Given the description of an element on the screen output the (x, y) to click on. 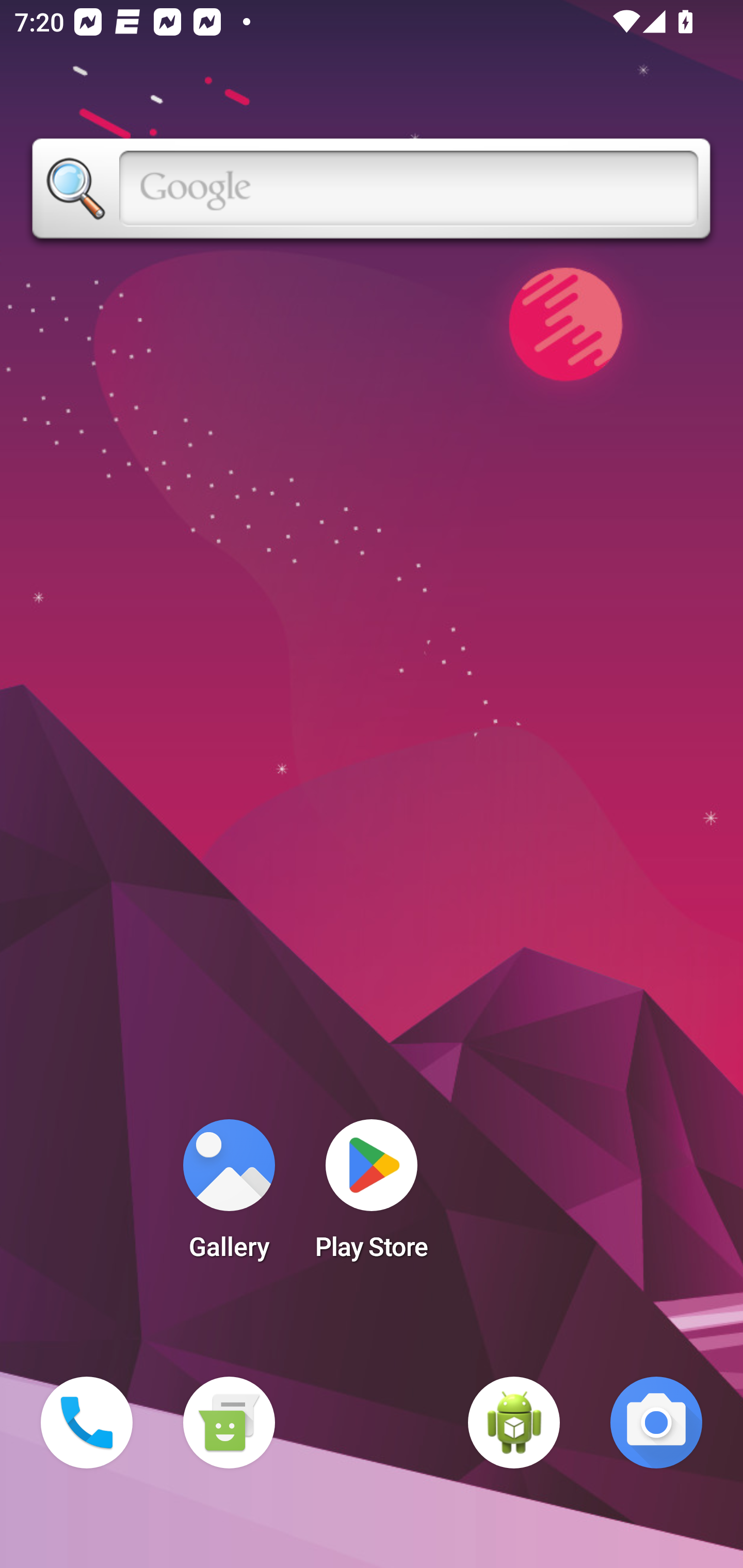
Gallery (228, 1195)
Play Store (371, 1195)
Phone (86, 1422)
Messaging (228, 1422)
WebView Browser Tester (513, 1422)
Camera (656, 1422)
